Given the description of an element on the screen output the (x, y) to click on. 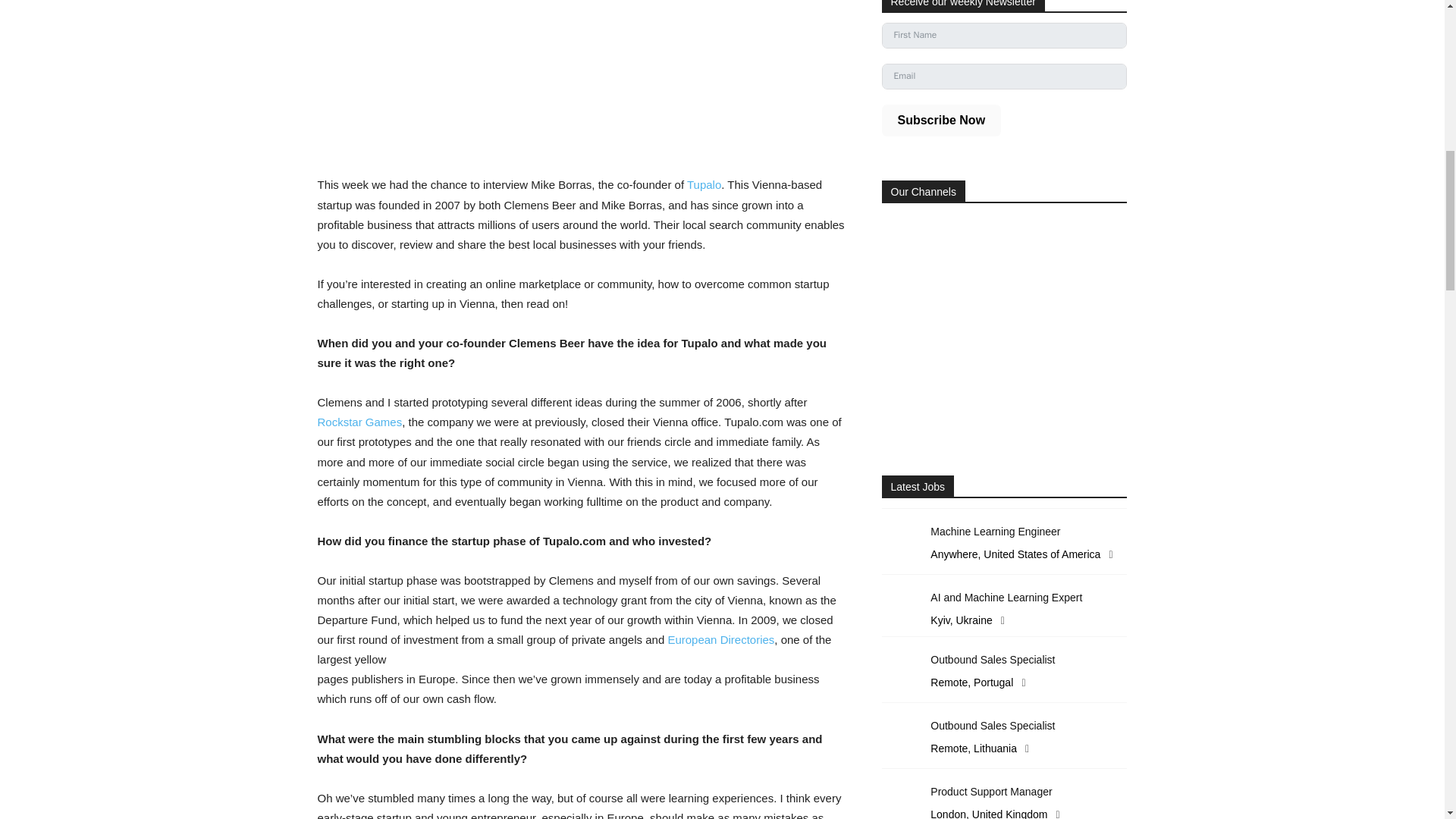
Tupalo.com (703, 184)
European Directories (720, 639)
Rockstar Games (359, 421)
